Given the description of an element on the screen output the (x, y) to click on. 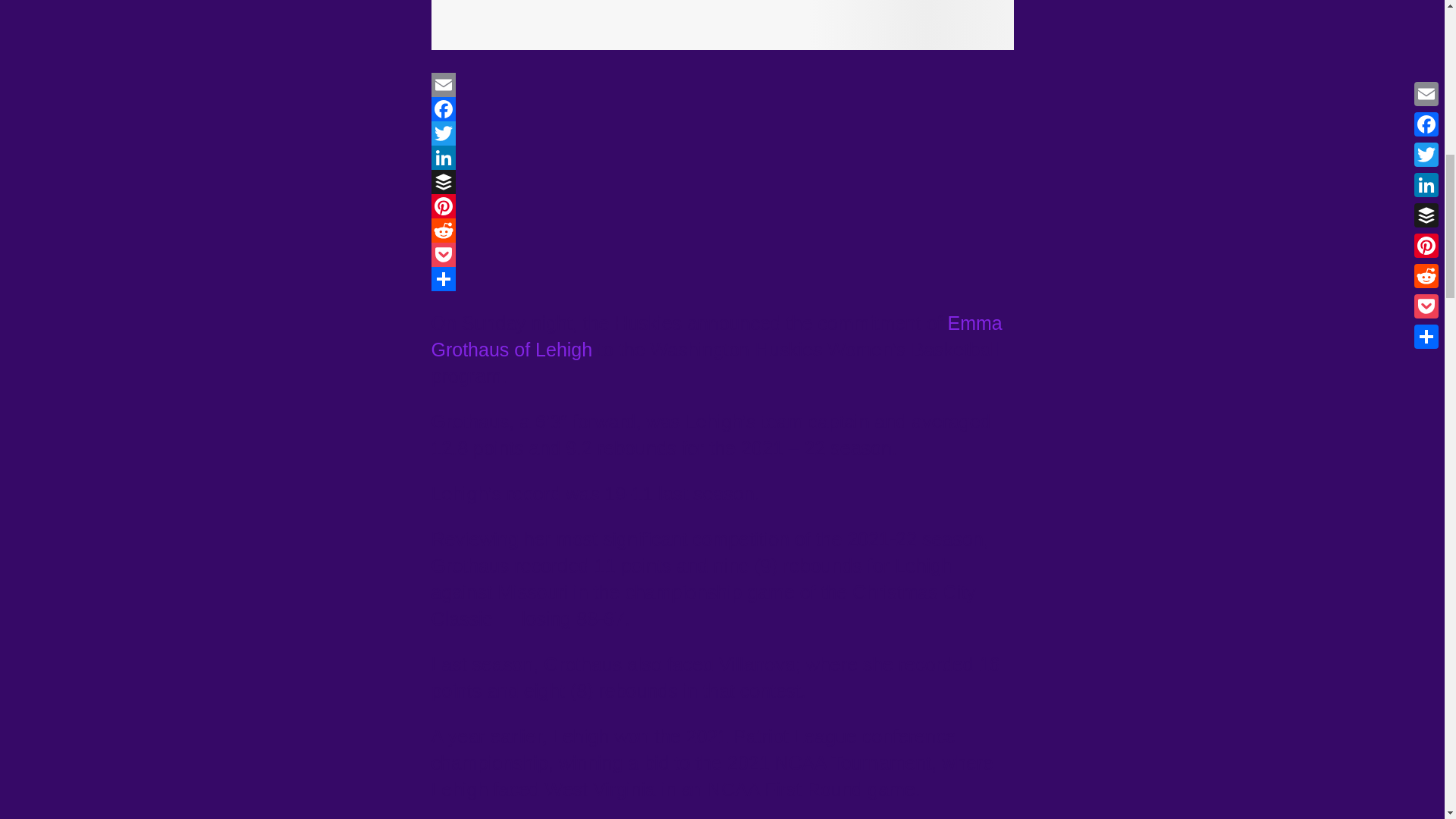
Facebook (721, 109)
Reddit (721, 230)
Pinterest (721, 206)
Pinterest (721, 206)
Emma Grothaus of Lehigh (715, 336)
Buffer (721, 181)
Facebook (721, 109)
Pocket (721, 254)
Reddit (721, 230)
Twitter (721, 133)
